Given the description of an element on the screen output the (x, y) to click on. 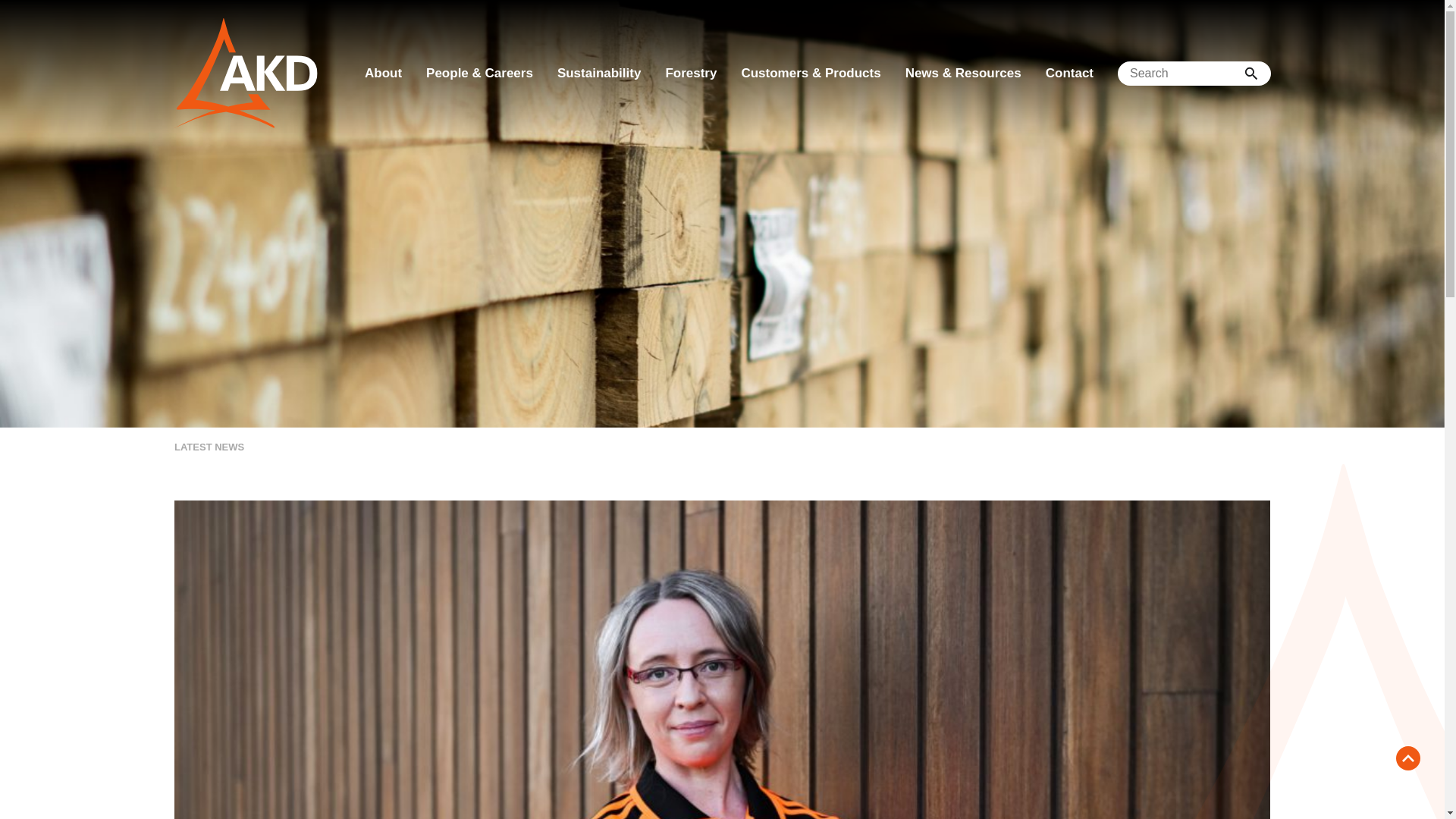
Sustainability (598, 73)
Contact (1069, 73)
About (382, 73)
LATEST NEWS (209, 446)
Back to top (1408, 758)
Forestry (690, 73)
